Given the description of an element on the screen output the (x, y) to click on. 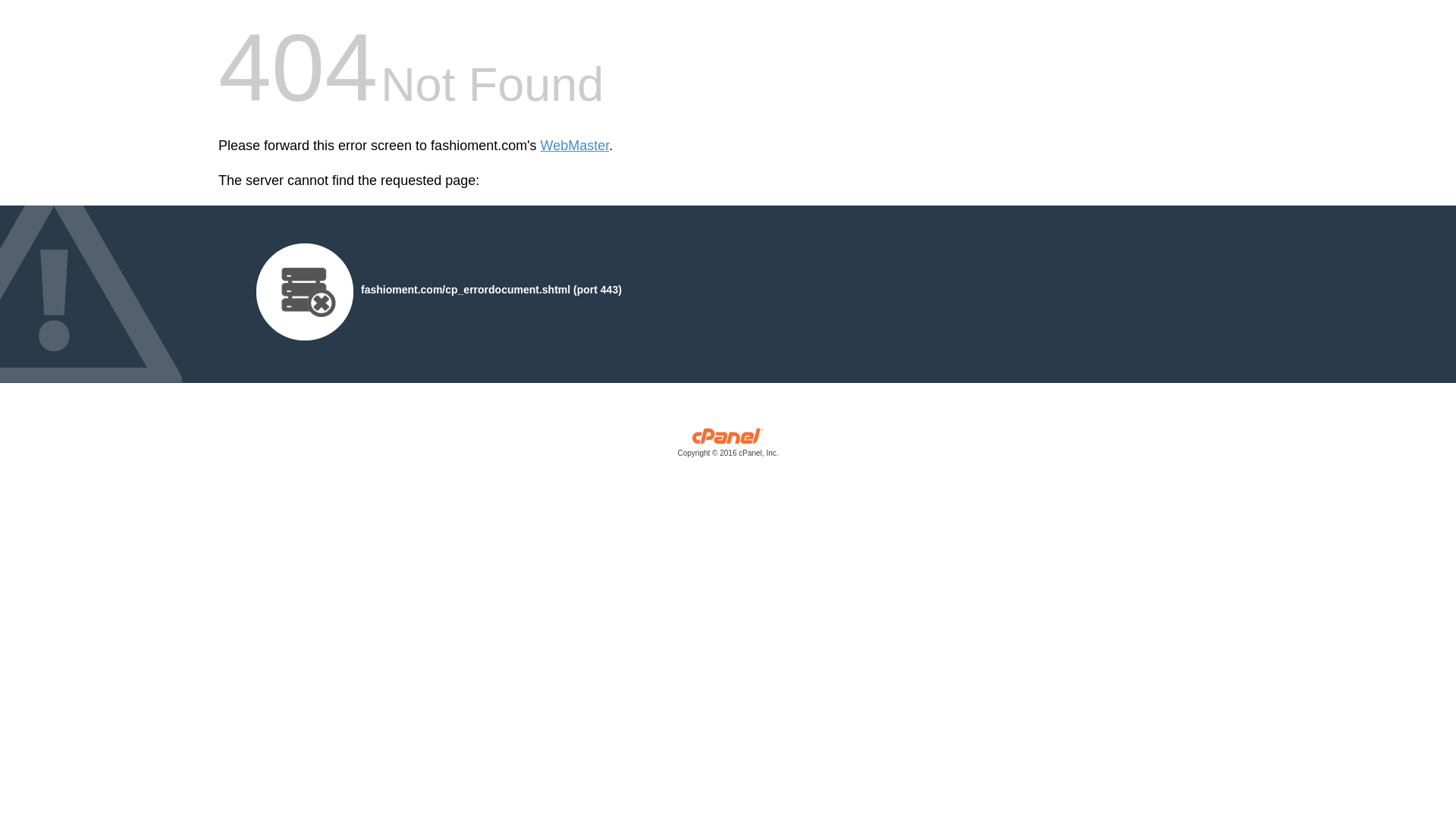
cPanel, Inc. (727, 446)
WebMaster (575, 145)
